Given the description of an element on the screen output the (x, y) to click on. 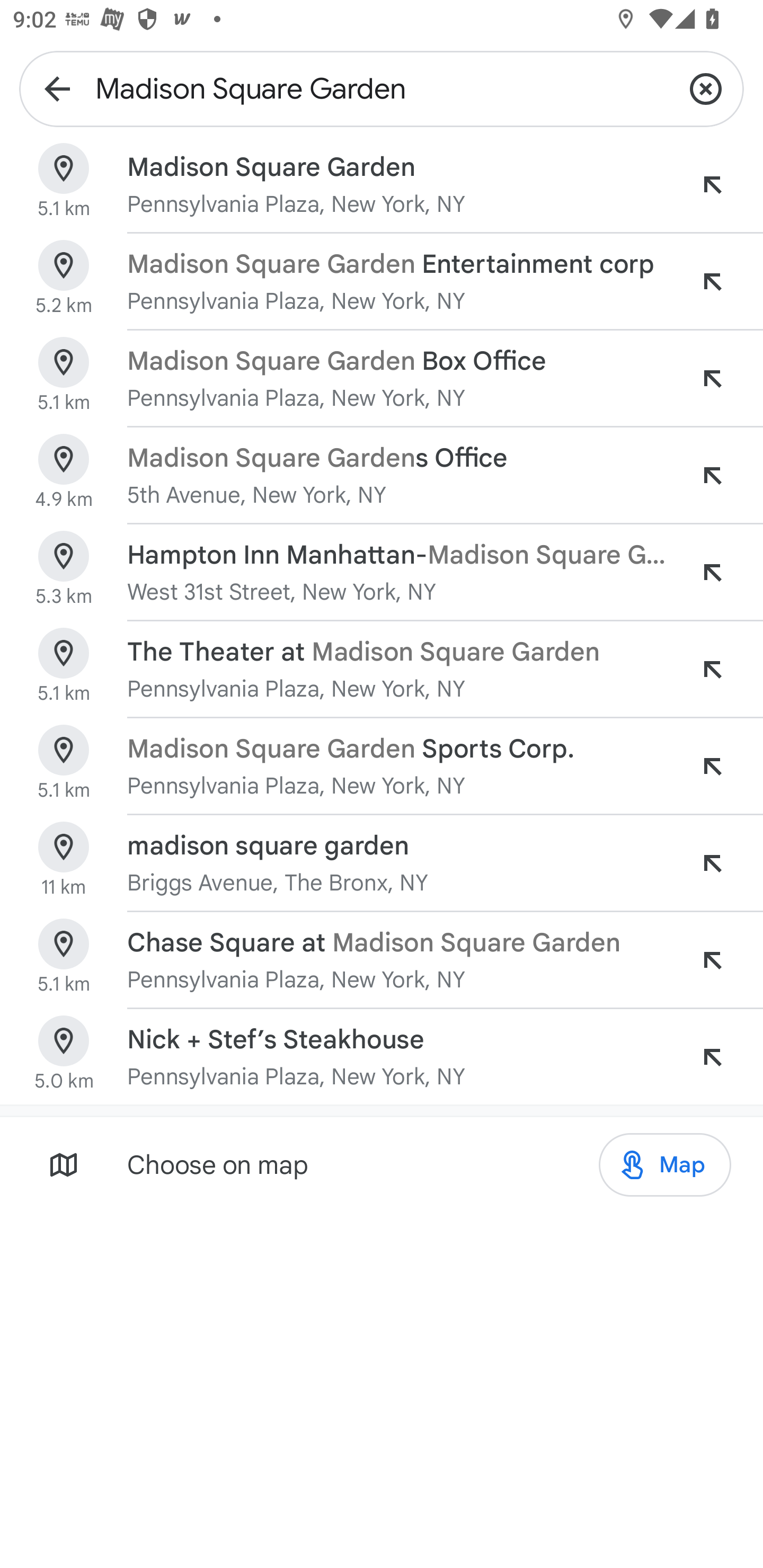
Navigate up (57, 88)
Madison Square Garden (381, 88)
Clear (705, 88)
Choose on map Map Map Map (381, 1164)
Map Map Map (664, 1164)
